Given the description of an element on the screen output the (x, y) to click on. 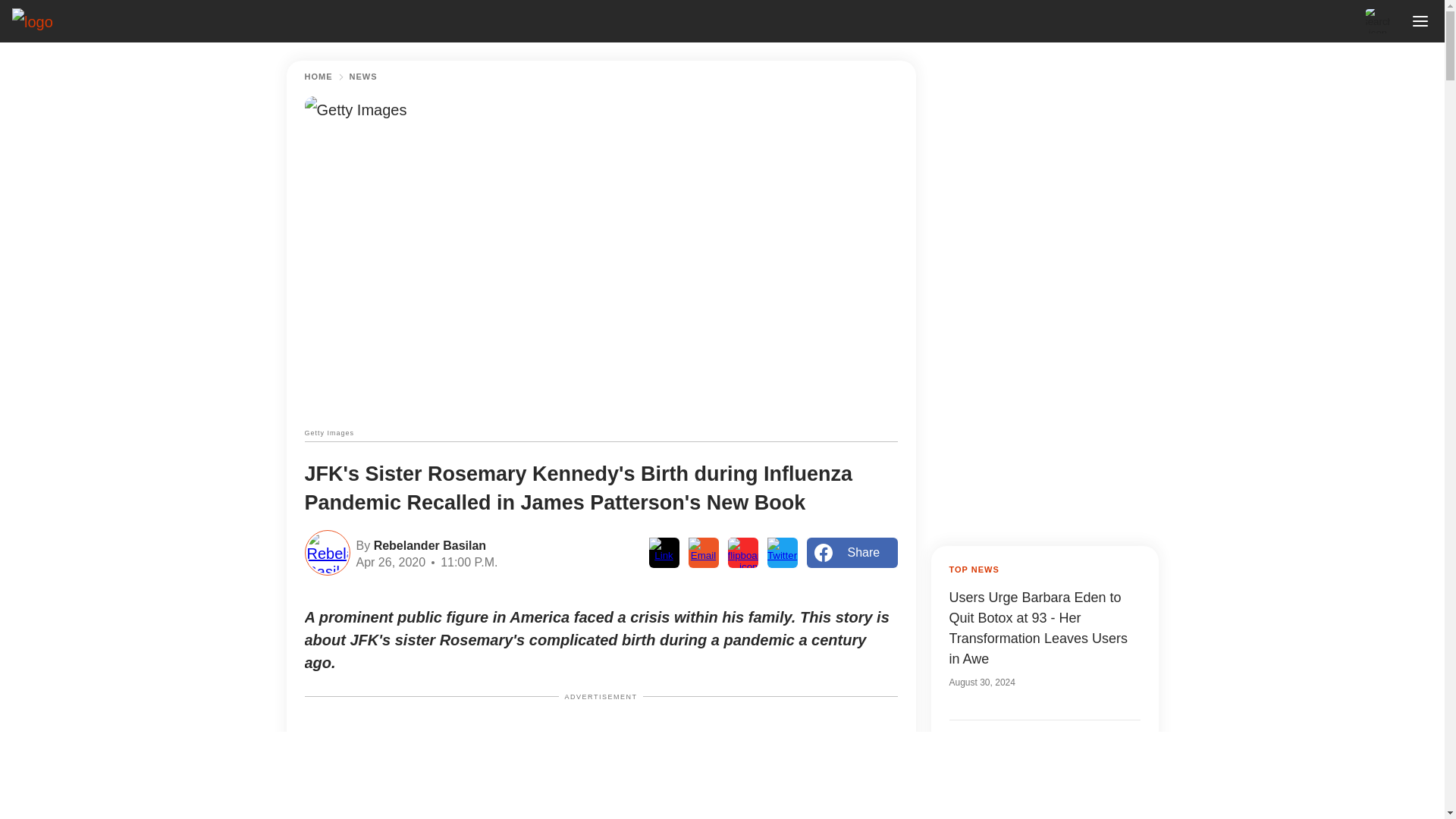
Rebelander Basilan (427, 544)
NEWS (363, 76)
HOME (318, 76)
